Given the description of an element on the screen output the (x, y) to click on. 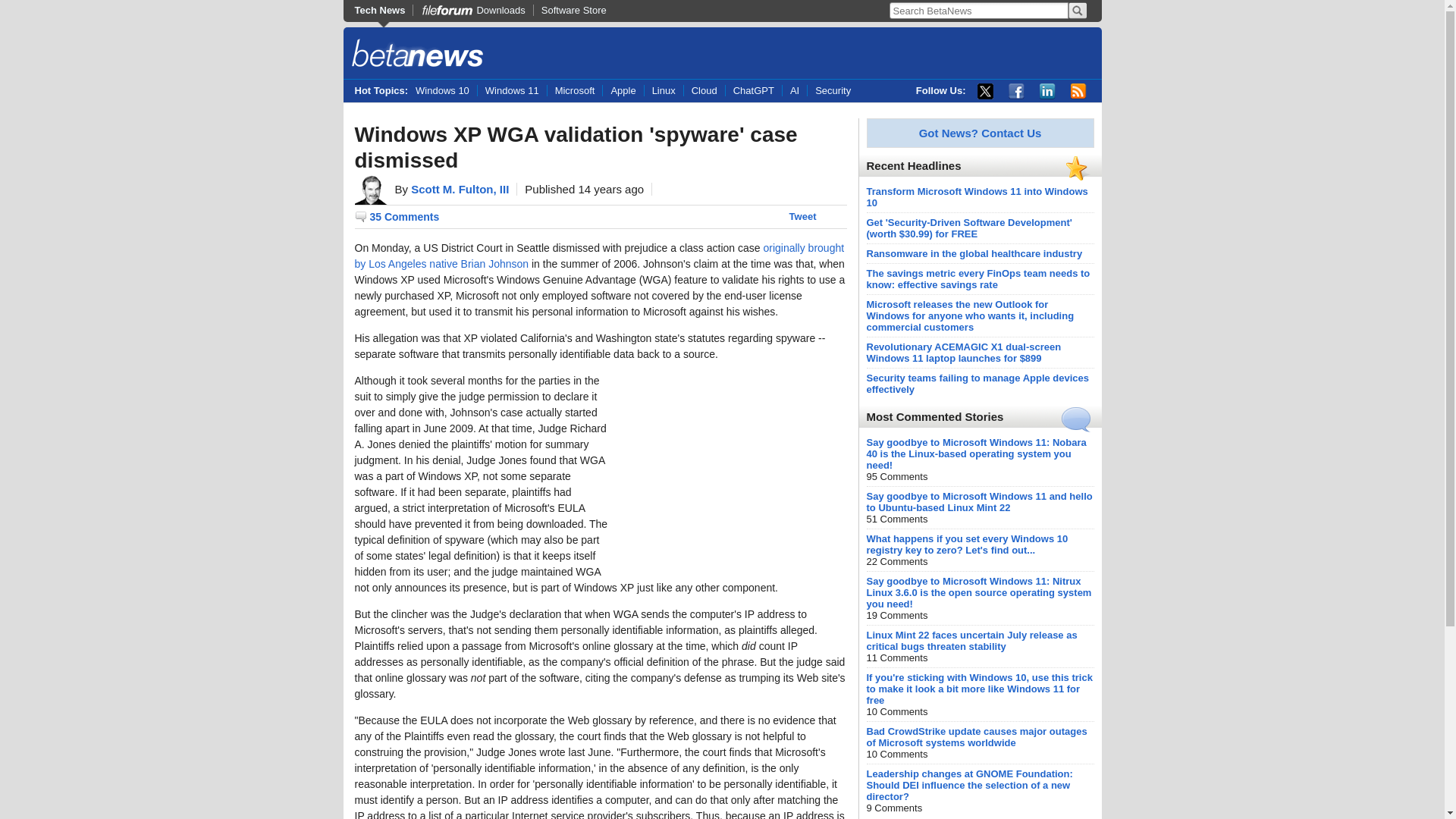
Tech News (384, 9)
AI (793, 90)
Scott M. Fulton, III (459, 188)
Cloud (703, 90)
Twitter (984, 91)
Linked-in (1046, 91)
Search (1076, 10)
Security teams failing to manage Apple devices effectively (977, 383)
Linux (662, 90)
Apple (622, 90)
